Given the description of an element on the screen output the (x, y) to click on. 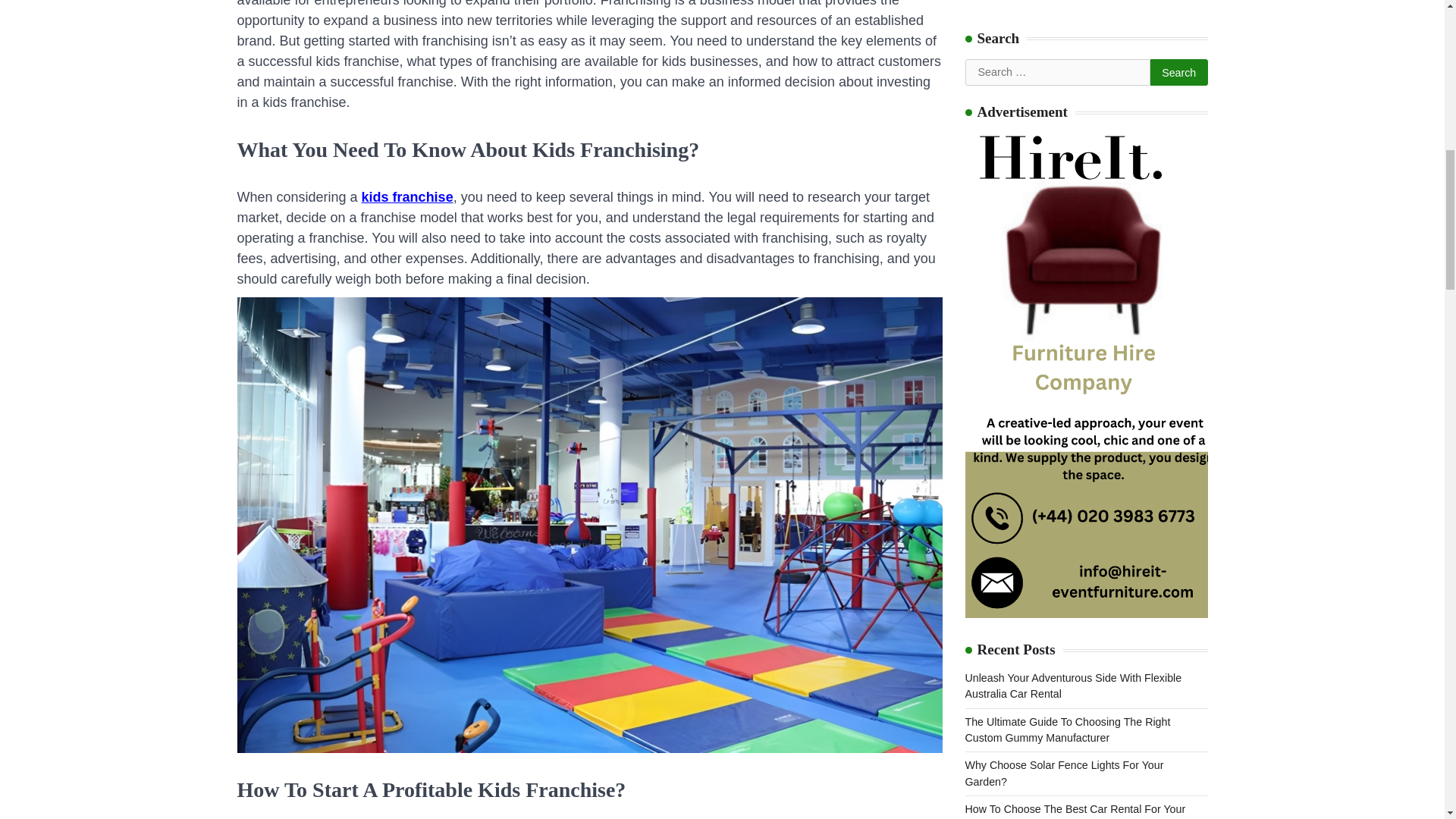
Lifestyle (983, 692)
Finance (983, 582)
General (983, 609)
Insurance (987, 664)
Business (986, 554)
Why Choose Solar Fence Lights For Your Garden? (1063, 107)
Health (979, 637)
